Given the description of an element on the screen output the (x, y) to click on. 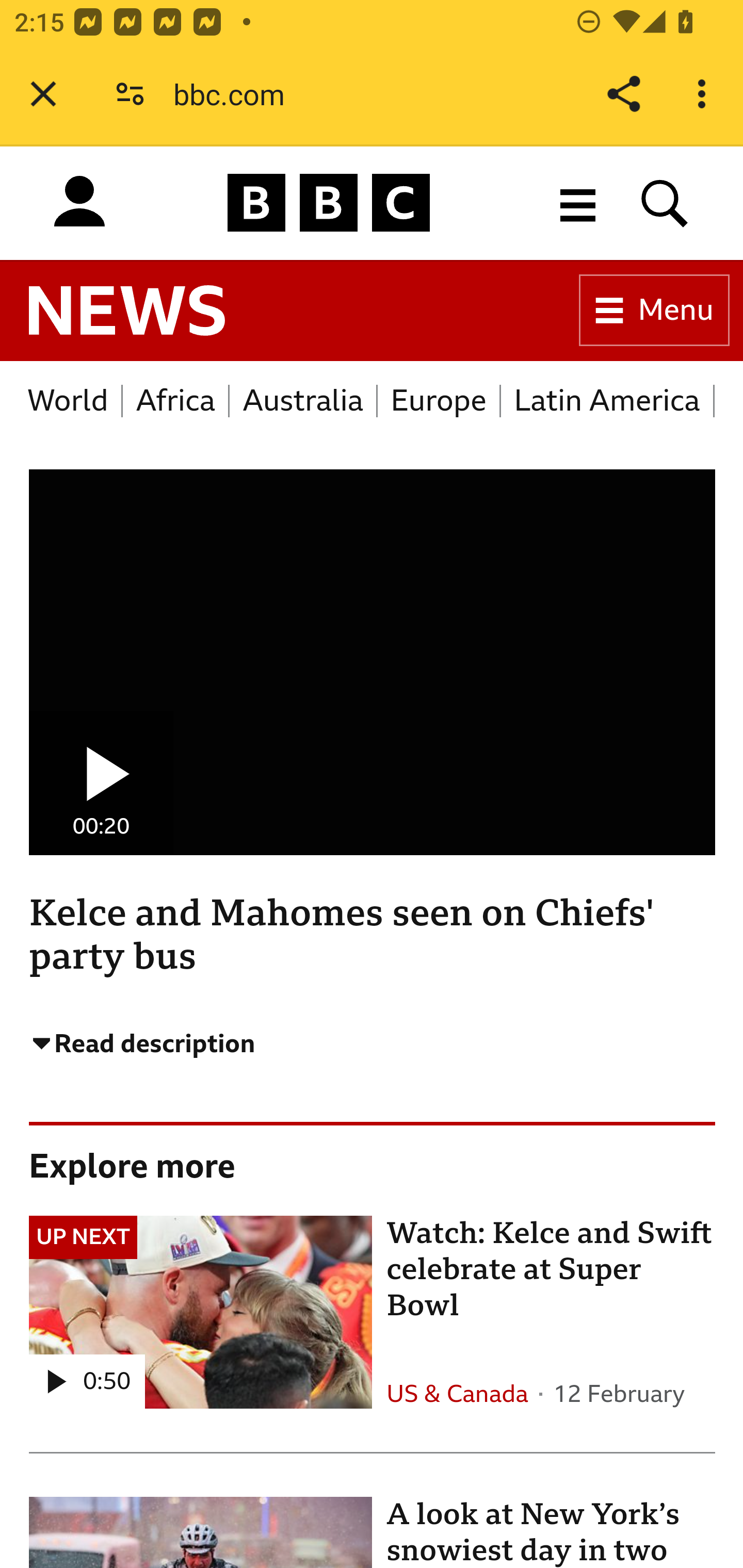
Close tab (43, 93)
Share (623, 93)
Customize and control Google Chrome (705, 93)
Connection is secure (129, 93)
bbc.com (236, 93)
Sign in (79, 202)
BBC Homepage (329, 202)
More menu (578, 202)
Search BBC (665, 202)
BBC News (126, 311)
Menu (654, 310)
World (69, 400)
Africa (176, 400)
Australia (303, 400)
Europe (439, 400)
Latin America (607, 400)
Play Kelce and Mahomes seen on Chiefs' party bus (101, 782)
Read description (156, 1046)
US & Canada (457, 1394)
